Given the description of an element on the screen output the (x, y) to click on. 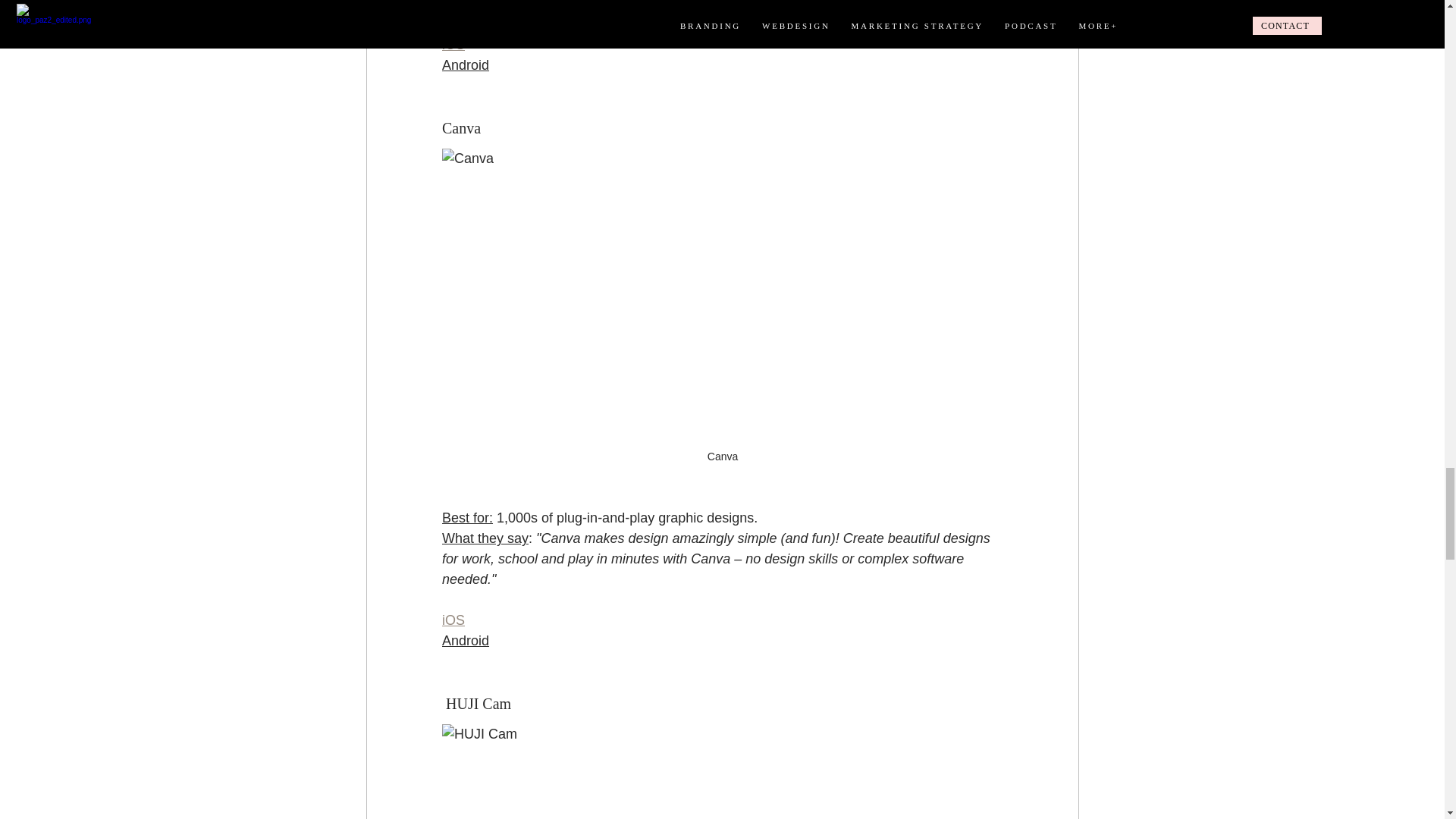
iOS (452, 620)
iOS (452, 44)
